Given the description of an element on the screen output the (x, y) to click on. 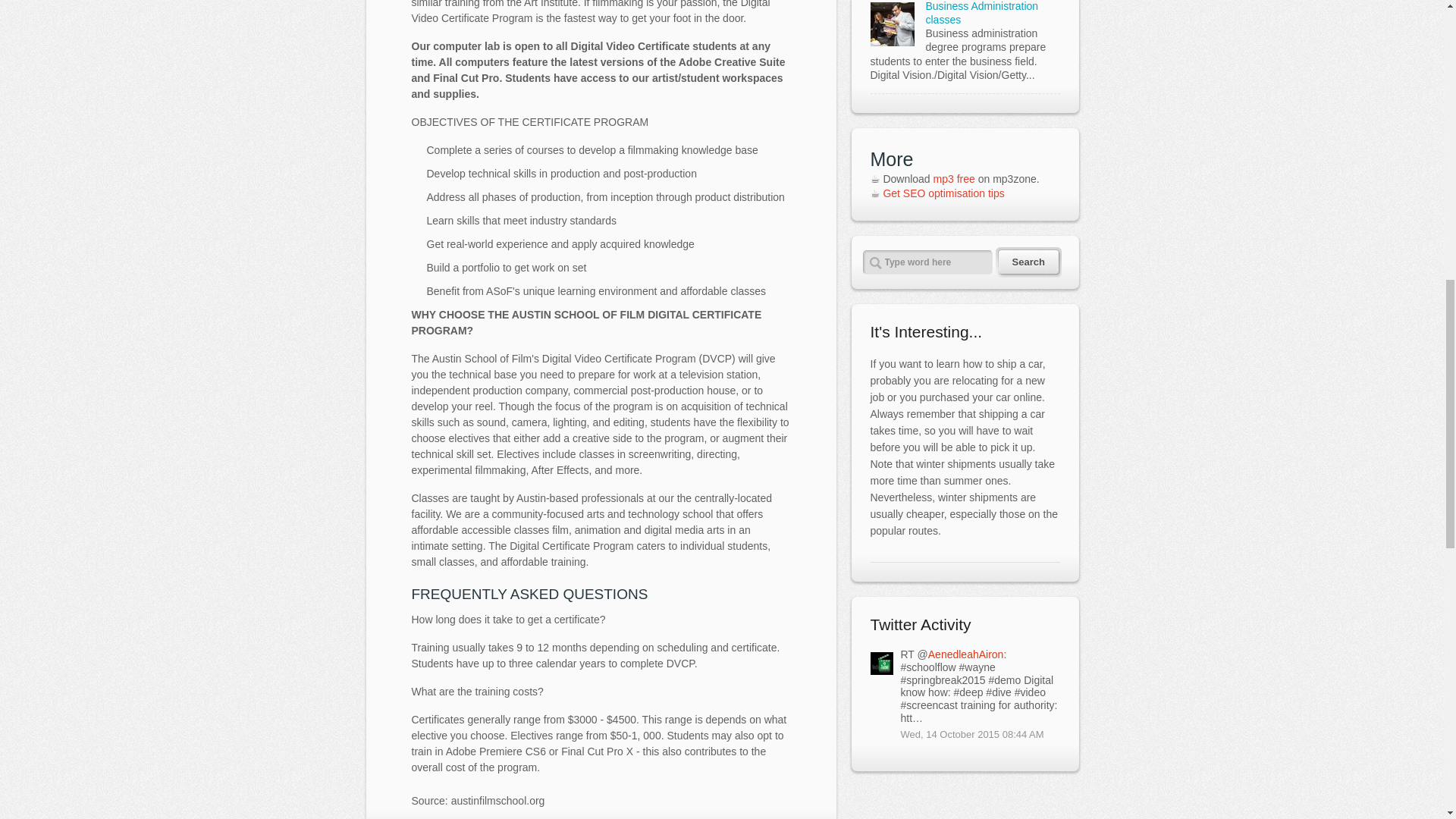
mp3 free (954, 178)
Search (1019, 262)
Type word here (927, 262)
how to ship a car (1002, 363)
Get SEO optimisation tips (943, 193)
Search (1019, 262)
Business Administration classes (981, 12)
